Given the description of an element on the screen output the (x, y) to click on. 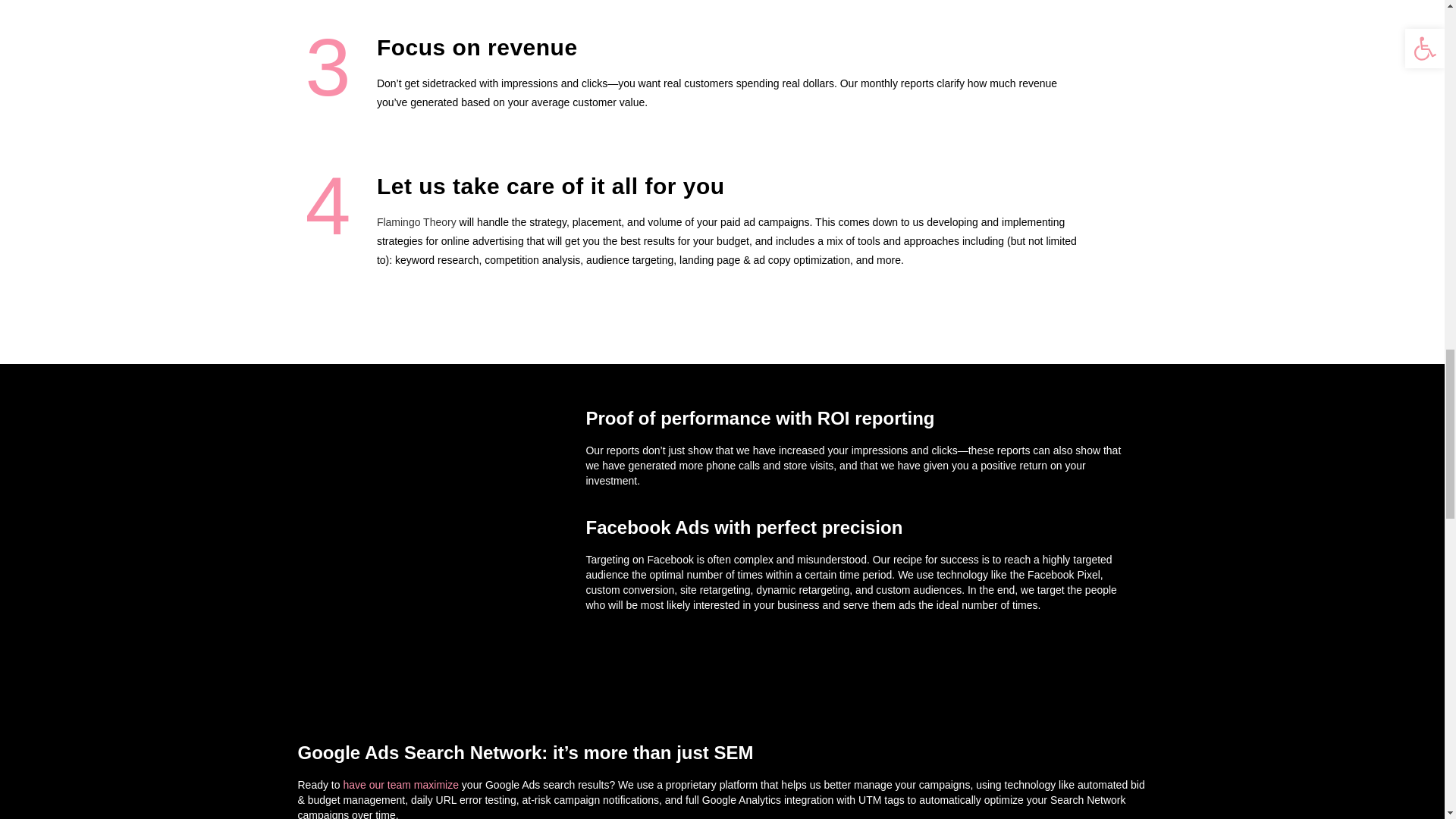
Flamingo Theory (417, 222)
have our team maximize (400, 784)
